Given the description of an element on the screen output the (x, y) to click on. 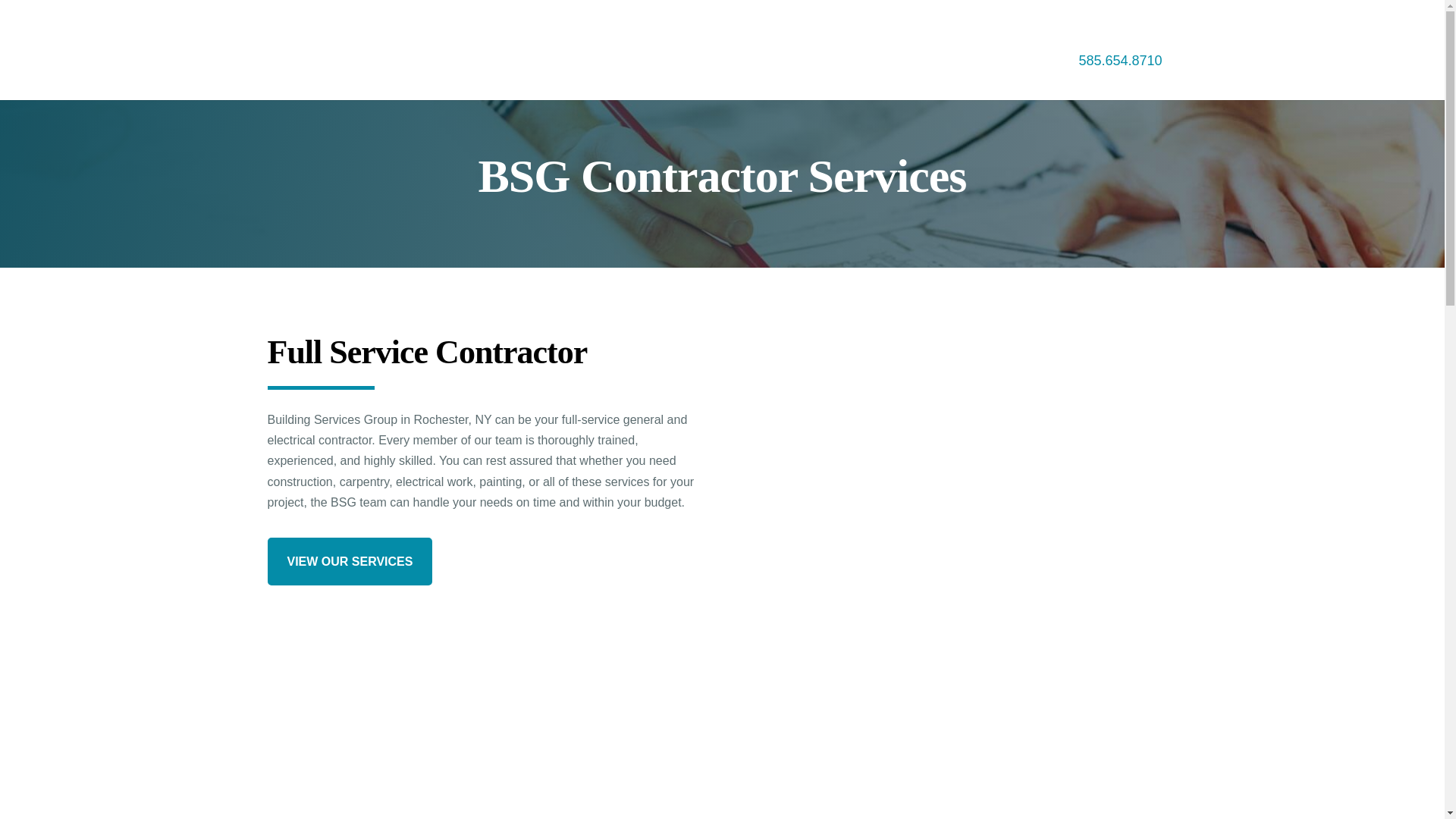
VIEW OUR SERVICES (349, 561)
ABOUT (841, 77)
PROJECTS (921, 77)
SERVICES (755, 77)
CONTACT (1010, 77)
585.654.8710 (1119, 60)
